Given the description of an element on the screen output the (x, y) to click on. 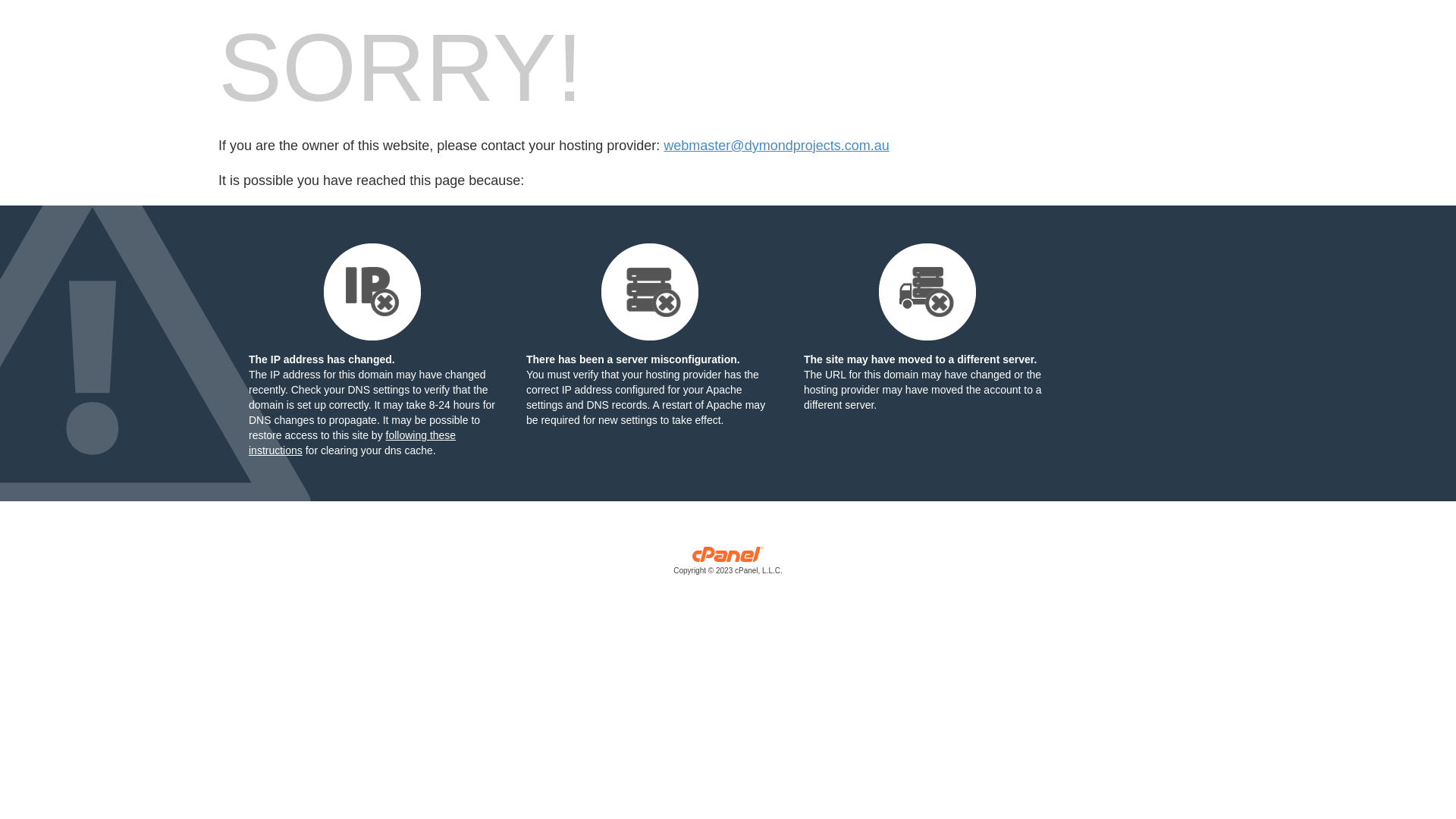
webmaster@dymondprojects.com.au Element type: text (775, 145)
following these instructions Element type: text (351, 442)
